Given the description of an element on the screen output the (x, y) to click on. 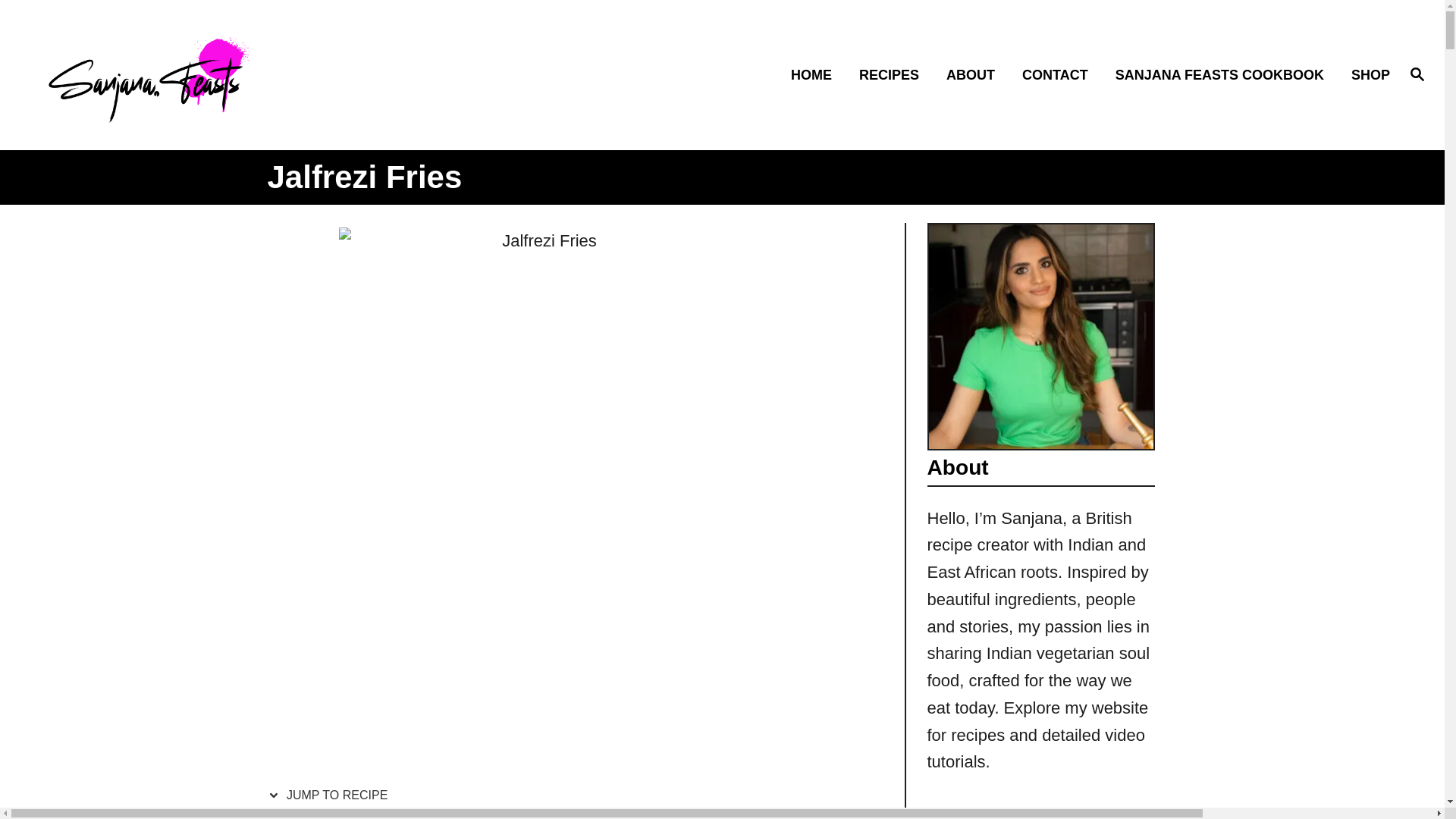
SANJANA FEASTS COOKBOOK (1224, 75)
SHOP (1366, 75)
CONTACT (1059, 75)
ABOUT (975, 75)
RECIPES (893, 75)
JUMP TO RECIPE (1417, 75)
HOME (330, 795)
Magnifying Glass (815, 75)
Sanjana.Feasts (1416, 74)
